Given the description of an element on the screen output the (x, y) to click on. 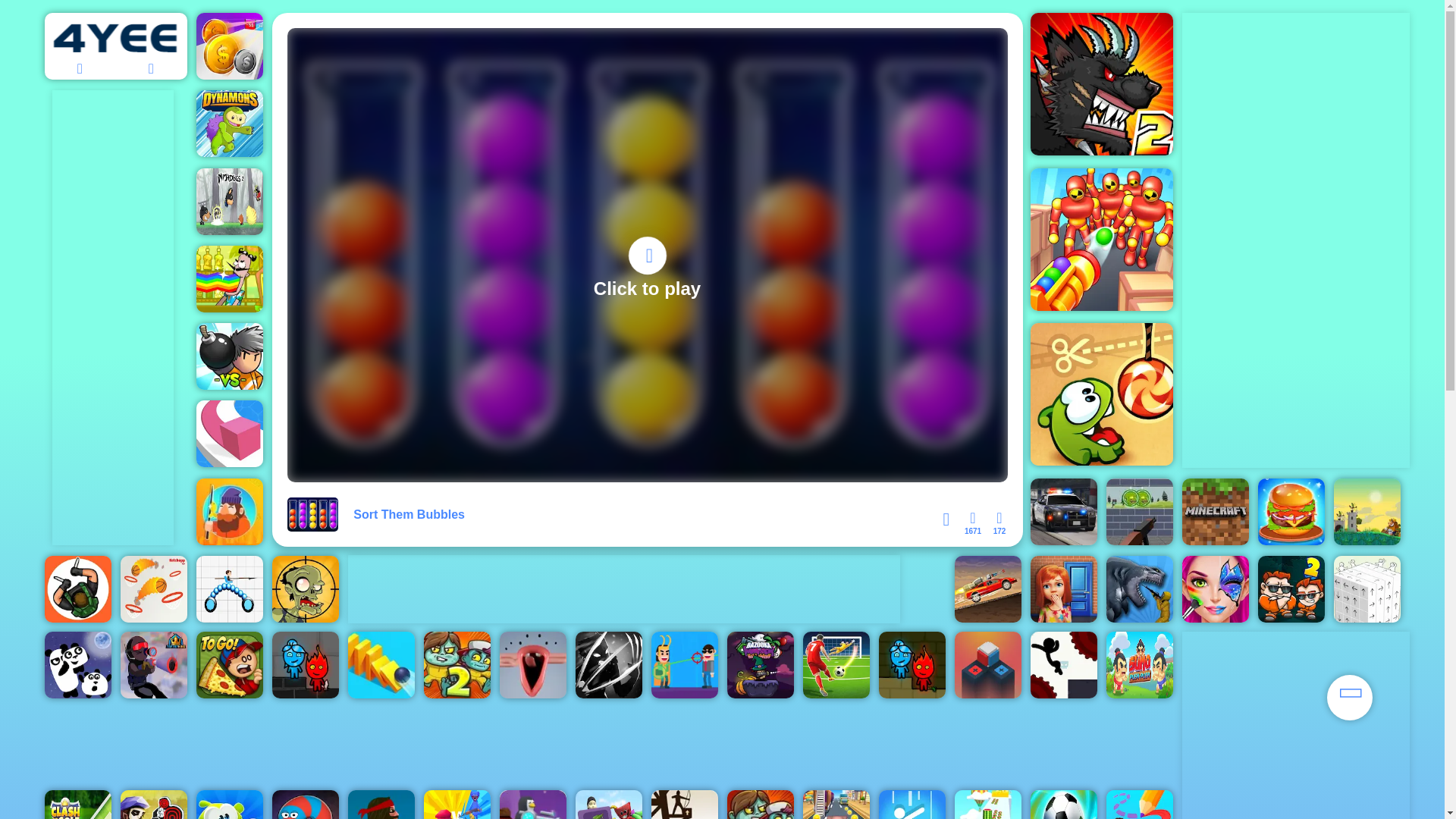
Line Color 3D (228, 433)
Cut the Rope (1100, 394)
Police Pursuit 2 (1062, 511)
Bomber Friends (228, 355)
Mutant Fighting Cup 2016 (1100, 84)
Money Rush (228, 46)
Tiny Fishing (228, 511)
Dynamons 2 (228, 123)
Bartender Make the Right Mix (228, 278)
